Given the description of an element on the screen output the (x, y) to click on. 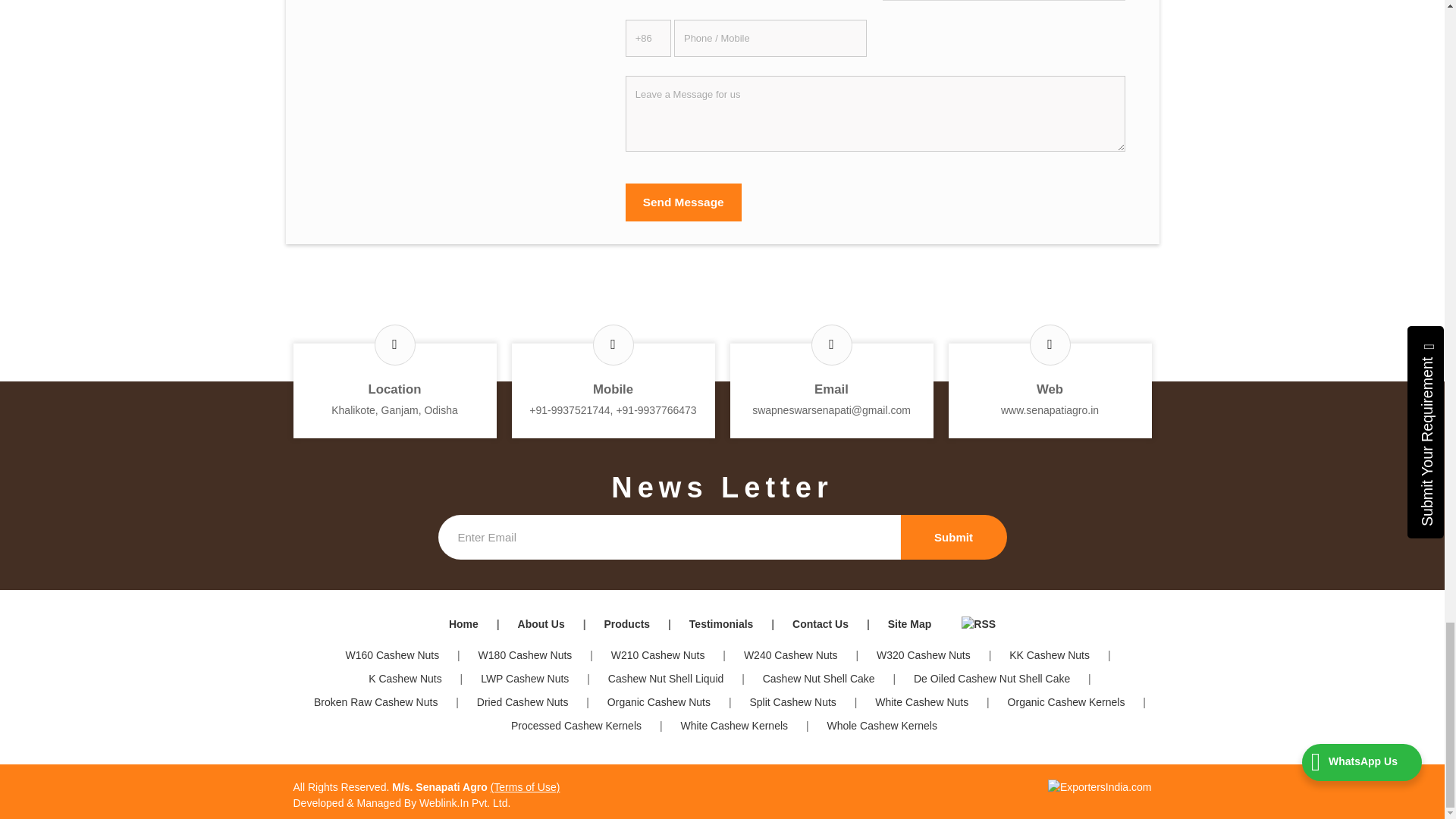
Enter Email (669, 537)
Submit (954, 537)
Send Message (683, 202)
